Given the description of an element on the screen output the (x, y) to click on. 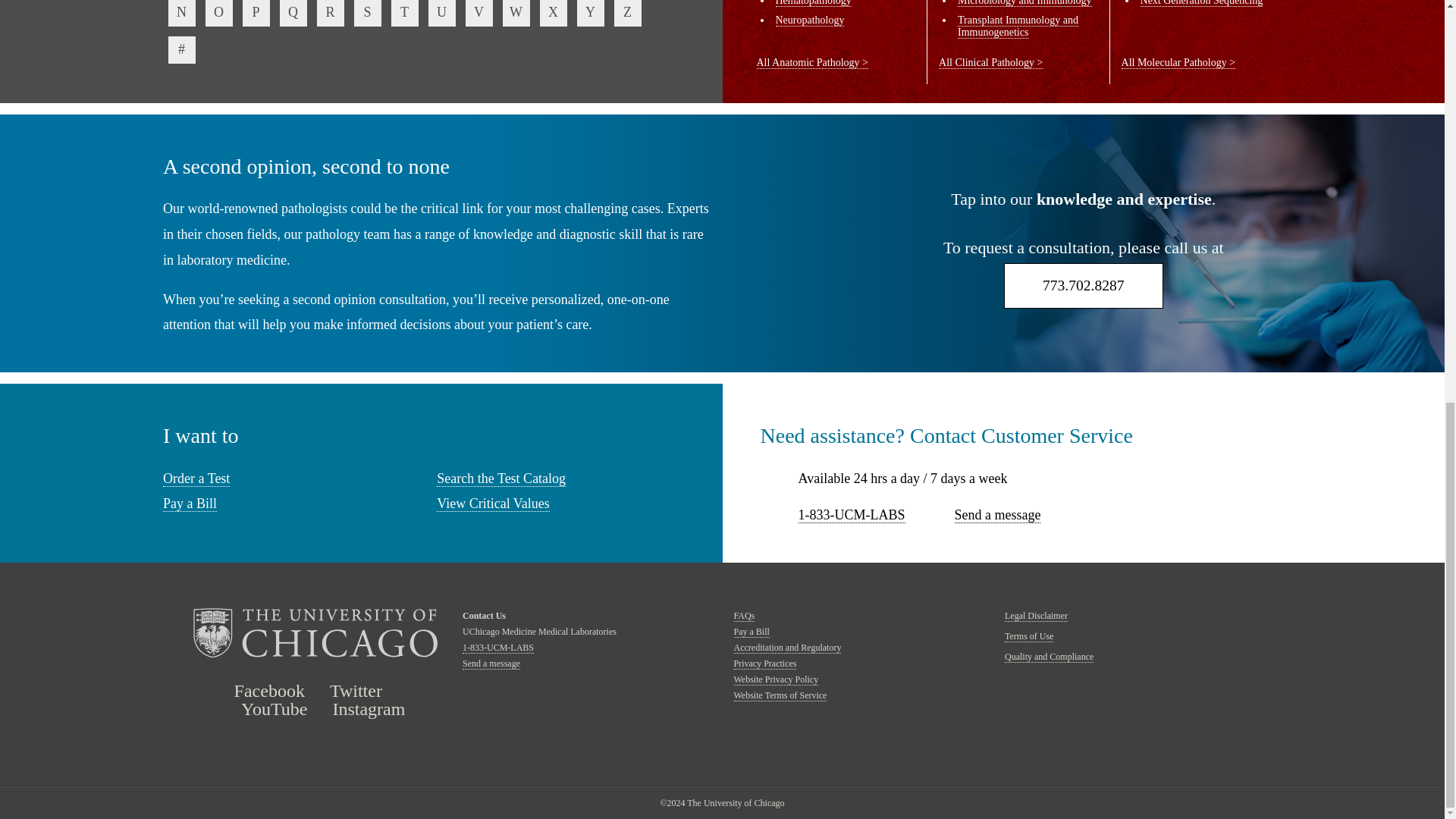
R (330, 13)
N (181, 13)
Q (292, 13)
P (256, 13)
O (218, 13)
